Given the description of an element on the screen output the (x, y) to click on. 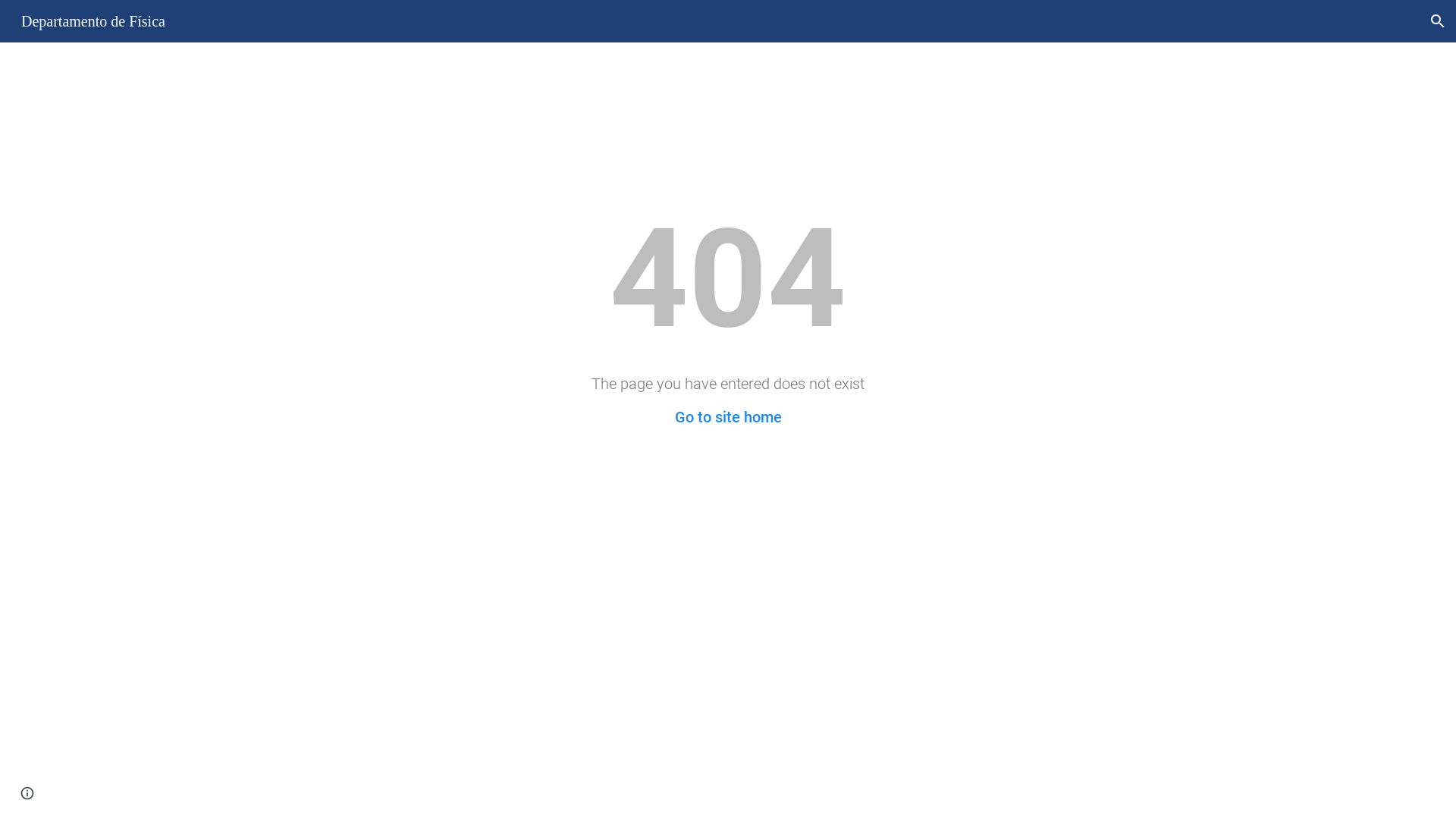
Go to site home Element type: text (727, 416)
